Given the description of an element on the screen output the (x, y) to click on. 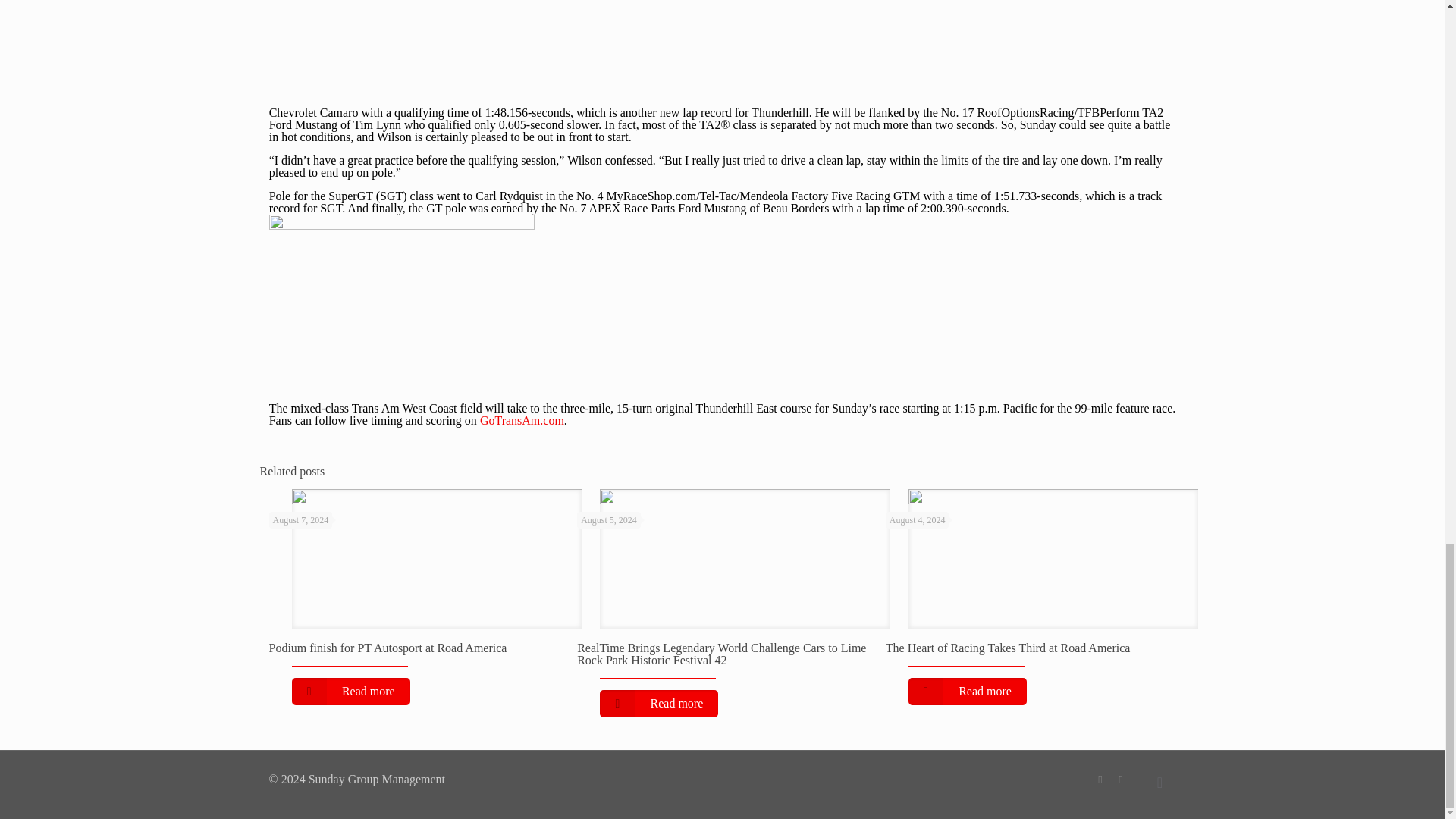
Read more (967, 691)
Facebook (1100, 779)
Twitter (1121, 779)
Read more (658, 703)
Podium finish for PT Autosport at Road America (386, 647)
Read more (350, 691)
GoTransAm.com (522, 420)
The Heart of Racing Takes Third at Road America (1008, 647)
